Given the description of an element on the screen output the (x, y) to click on. 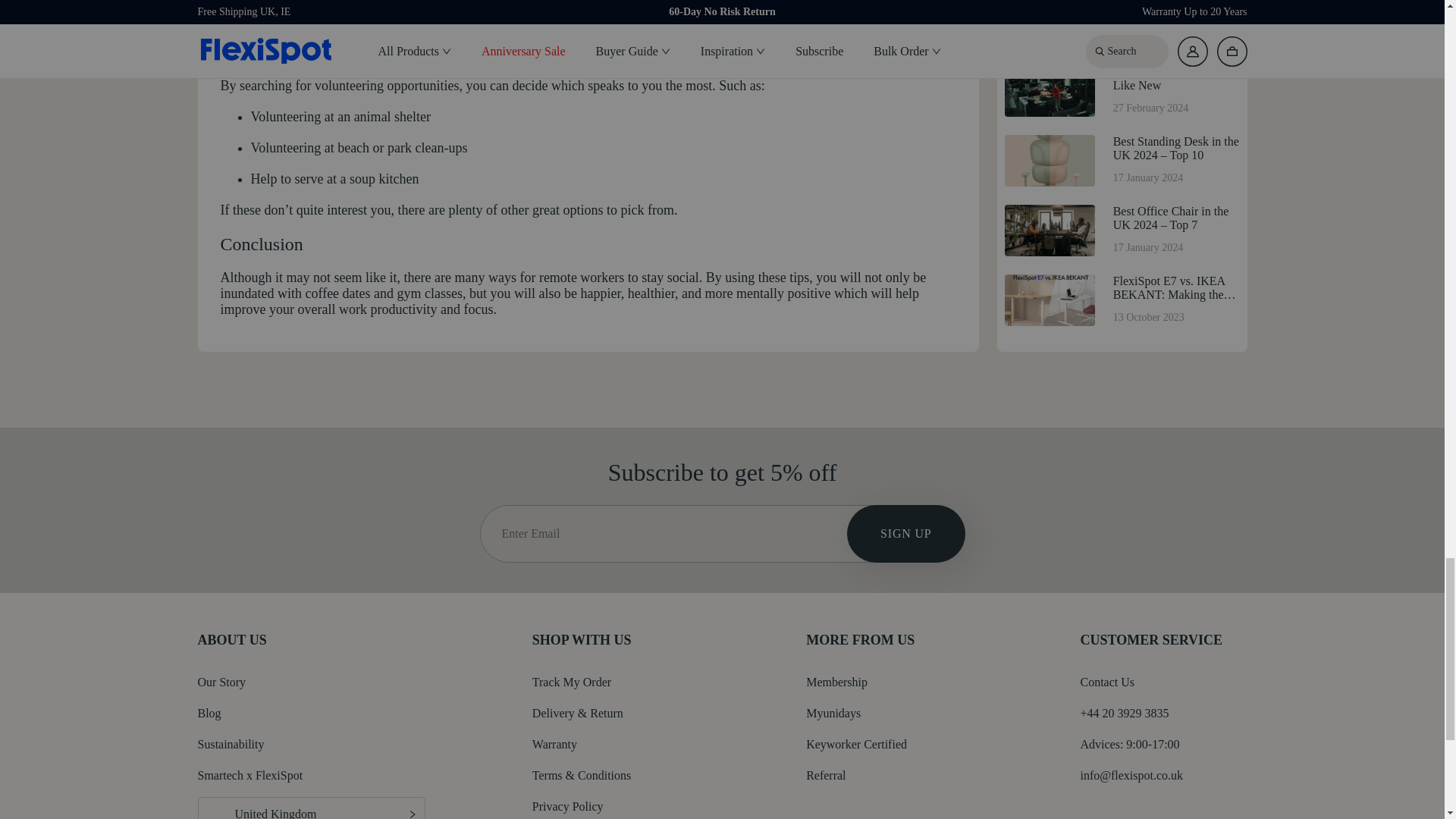
Privacy Policy (568, 806)
Smartech x FlexiSpot (249, 775)
Contact Us (1107, 681)
Sustainability (229, 744)
Referral (825, 775)
Membership (836, 681)
Keyworker Certified (856, 744)
SIGN UP (905, 533)
Blog (208, 712)
Track My Order (571, 681)
